Given the description of an element on the screen output the (x, y) to click on. 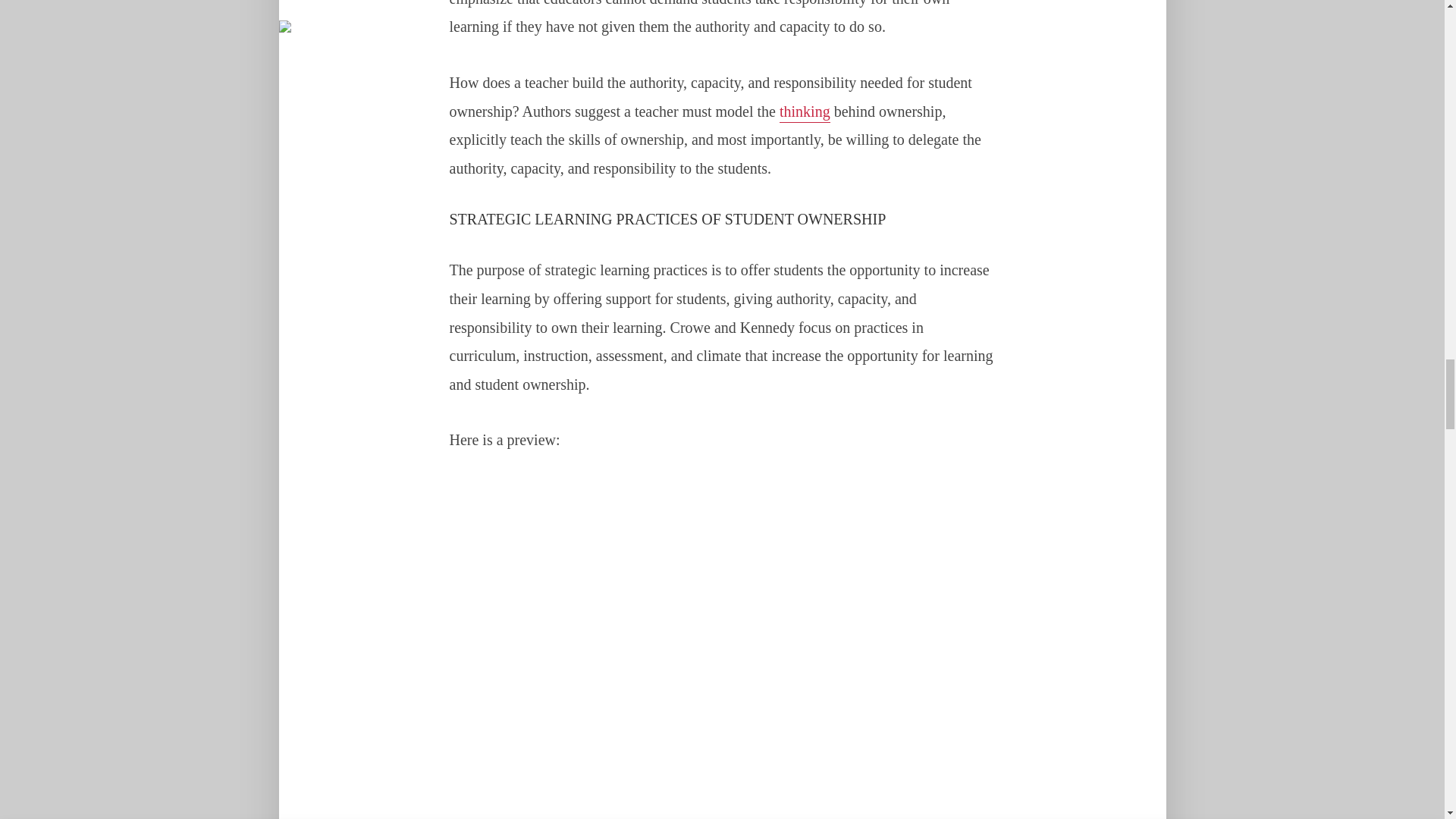
thinking (803, 112)
